Given the description of an element on the screen output the (x, y) to click on. 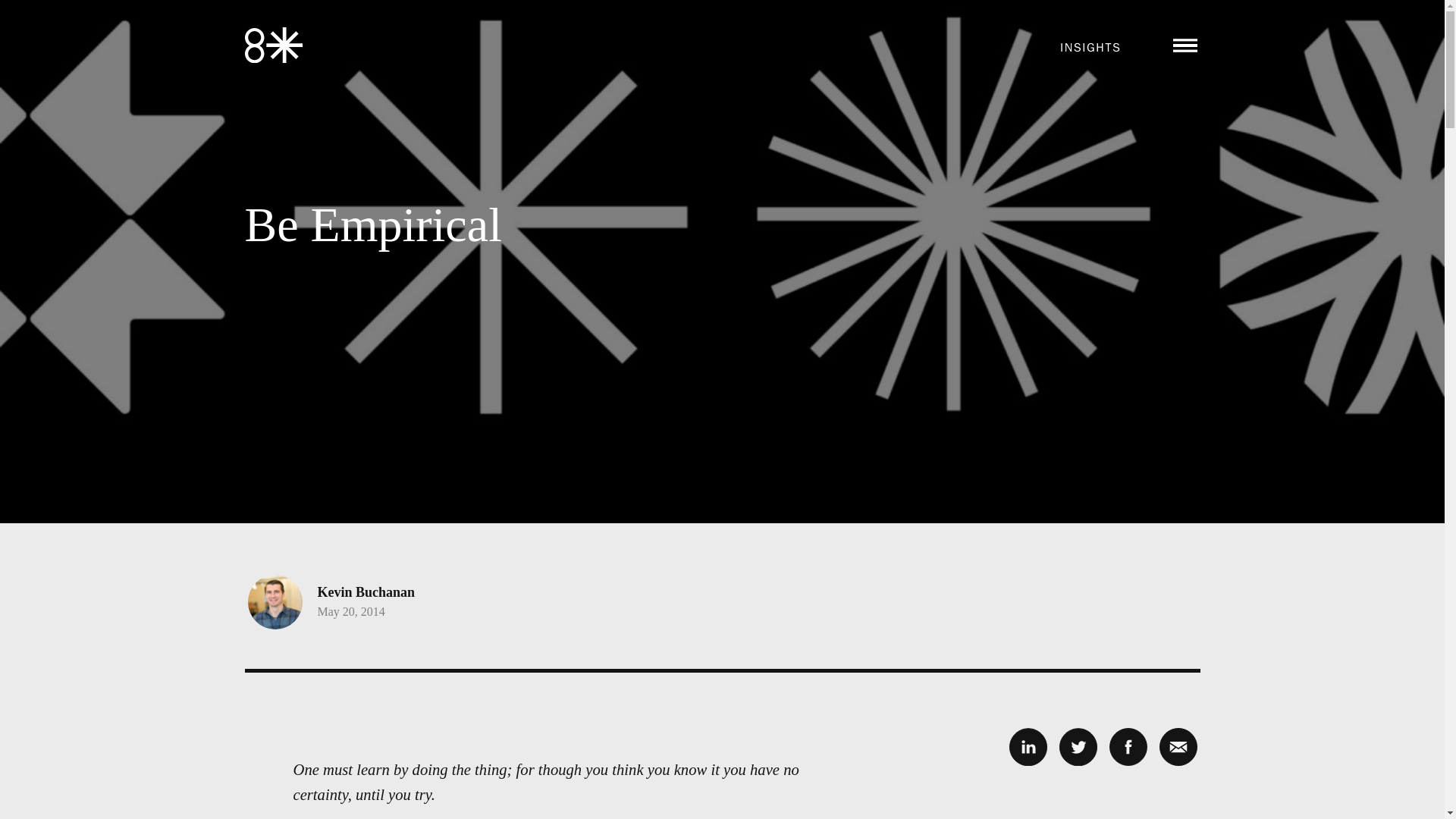
Email this post (1177, 746)
INSIGHTS (1090, 47)
Kevin Buchanan (365, 591)
Share on LinkedIn (1027, 746)
Share on Twitter (1077, 746)
Share on Facebook (1127, 746)
